Given the description of an element on the screen output the (x, y) to click on. 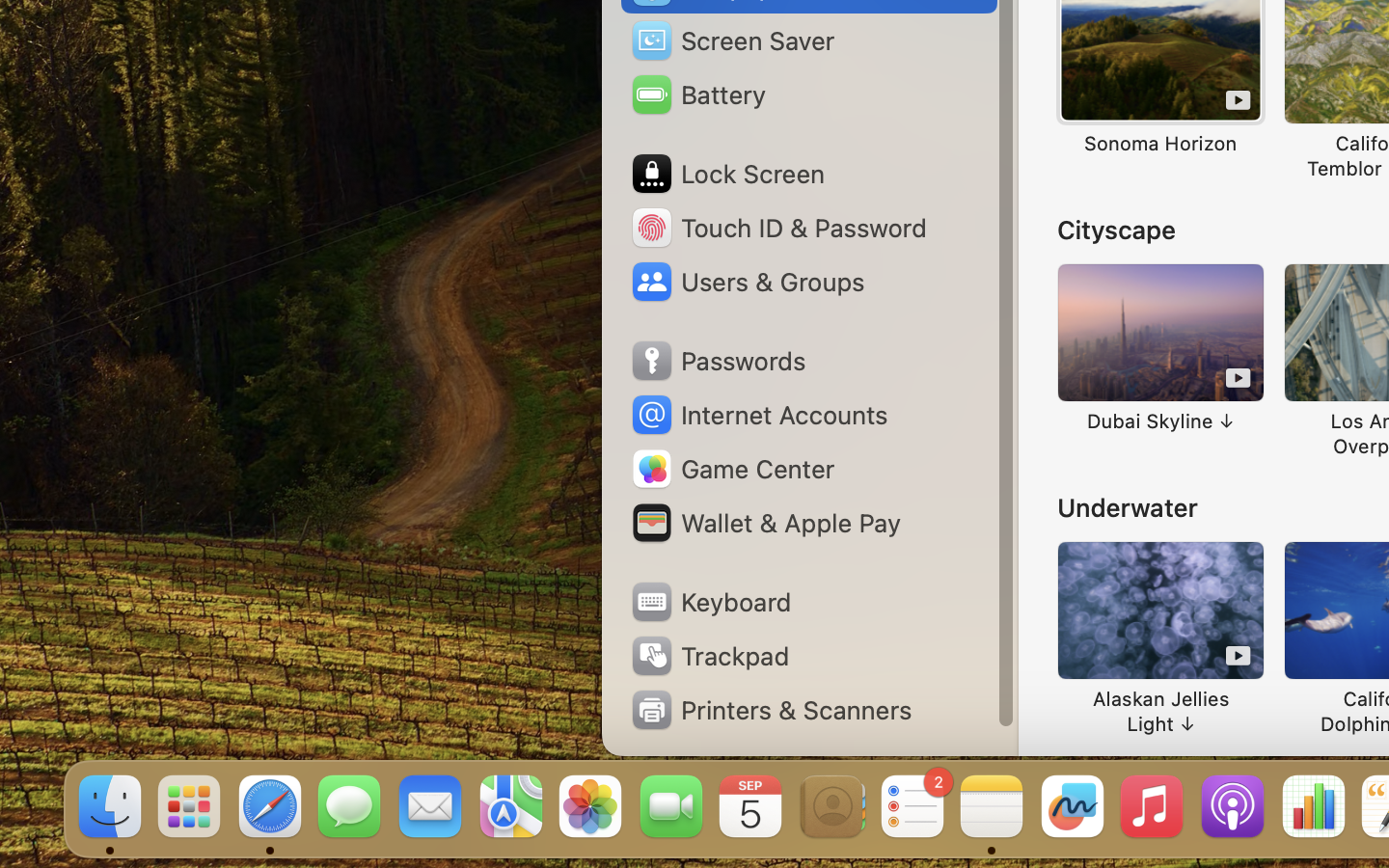
Screen Saver Element type: AXStaticText (731, 40)
Wallet & Apple Pay Element type: AXStaticText (764, 522)
Cityscape Element type: AXStaticText (1116, 229)
Touch ID & Password Element type: AXStaticText (777, 227)
Keyboard Element type: AXStaticText (709, 601)
